Given the description of an element on the screen output the (x, y) to click on. 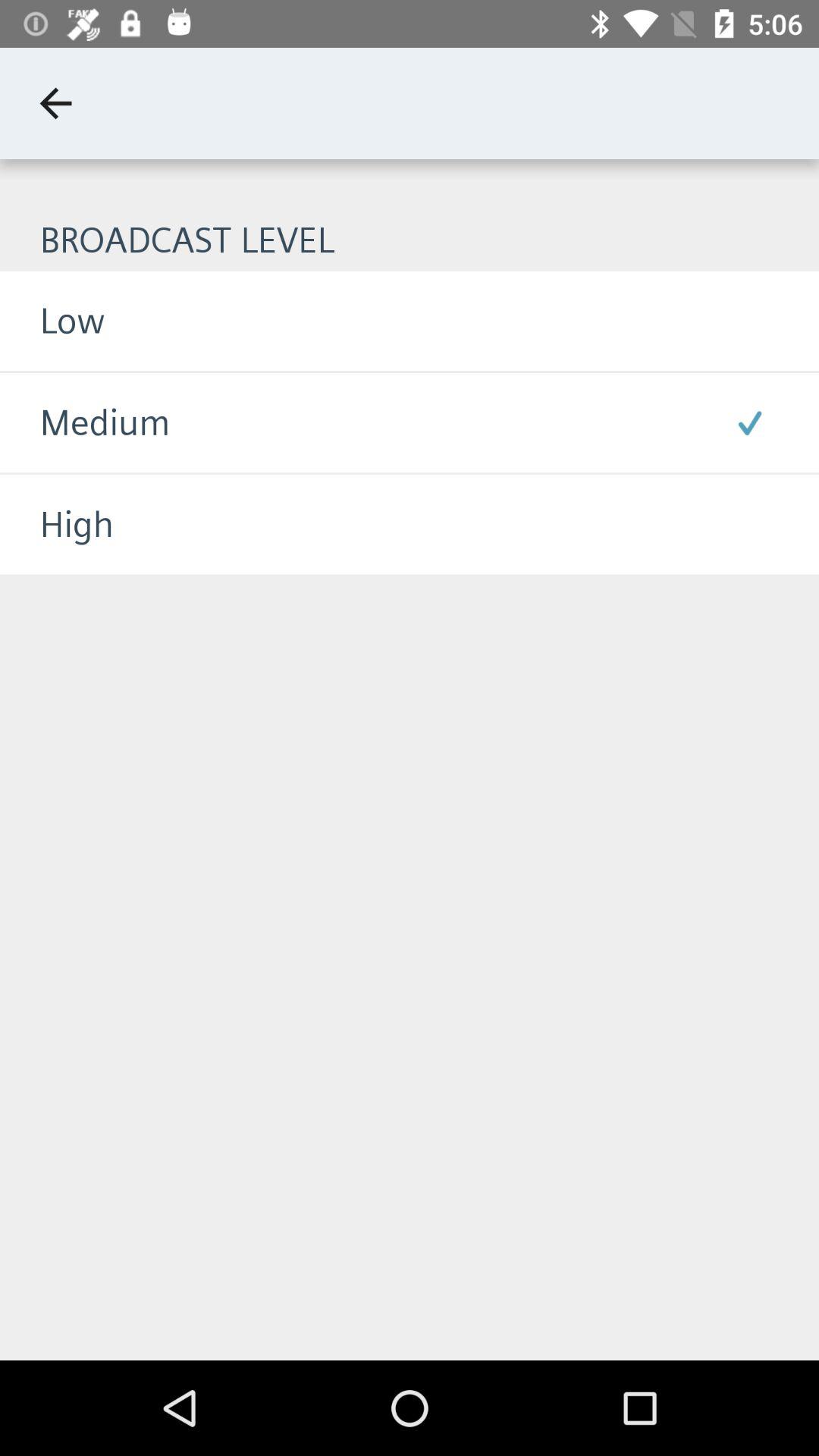
scroll to the high (56, 524)
